Given the description of an element on the screen output the (x, y) to click on. 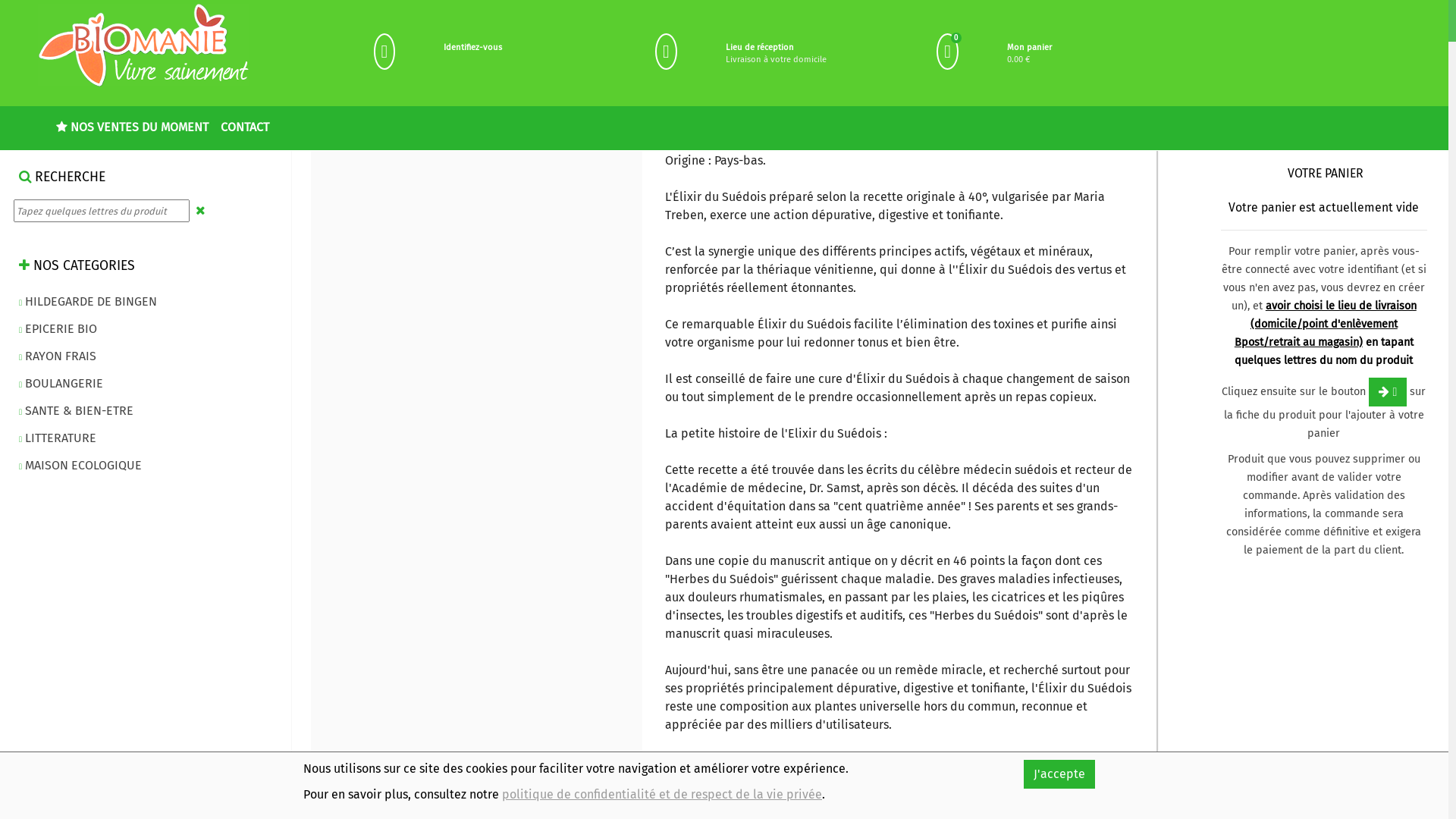
LITTERATURE Element type: text (57, 438)
NOS VENTES DU MOMENT Element type: text (132, 124)
RAYON FRAIS Element type: text (57, 357)
BOULANGERIE Element type: text (60, 384)
HILDEGARDE DE BINGEN Element type: text (87, 302)
J'accepte Element type: text (1059, 773)
EPICERIE BIO Element type: text (57, 329)
SANTE & BIEN-ETRE Element type: text (75, 411)
0 Element type: text (947, 51)
CONTACT Element type: text (244, 124)
MAISON ECOLOGIQUE Element type: text (79, 466)
Identifiez-vous Element type: text (472, 47)
